Given the description of an element on the screen output the (x, y) to click on. 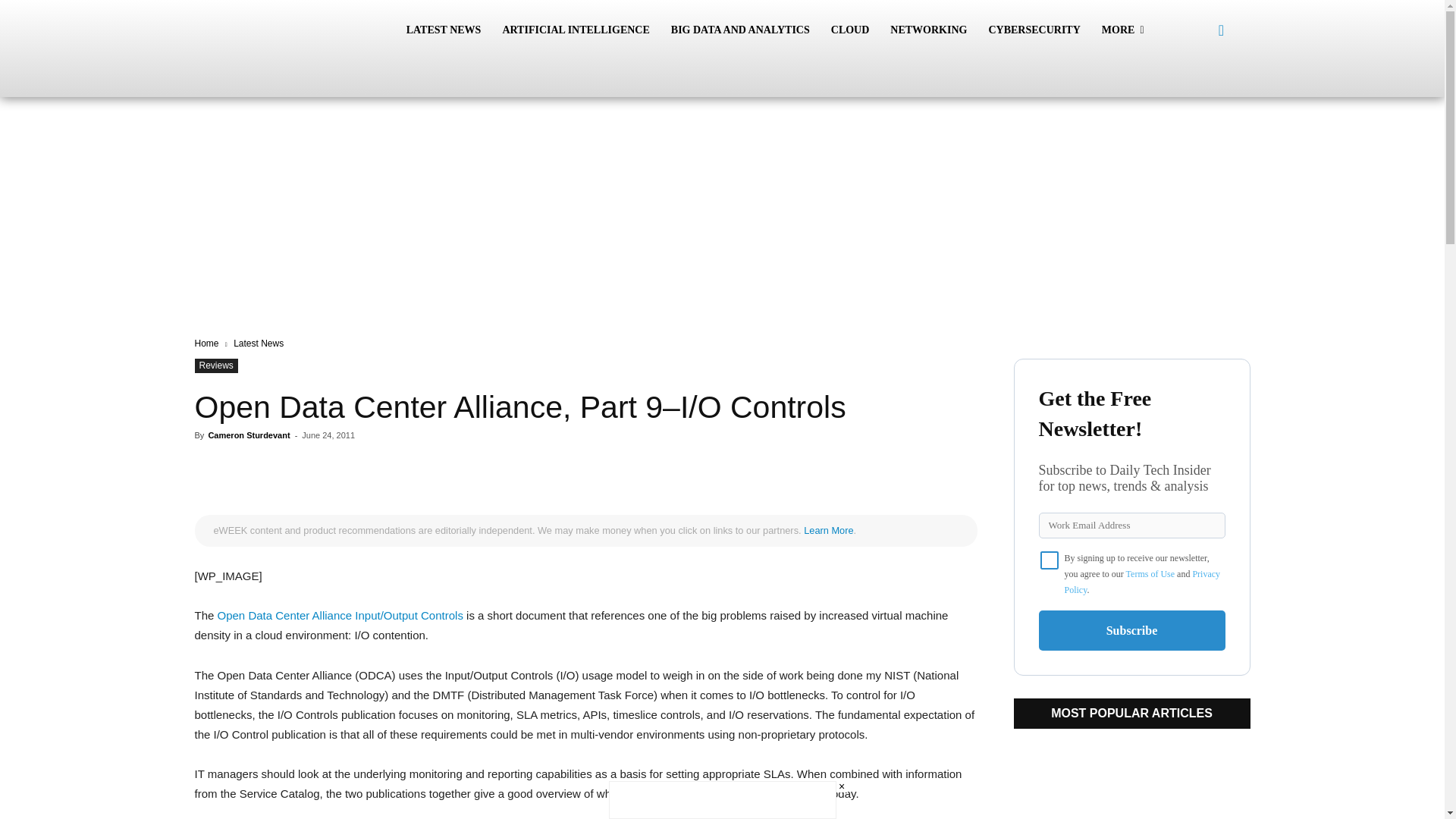
BIG DATA AND ANALYTICS (741, 30)
LATEST NEWS (444, 30)
on (1049, 560)
CYBERSECURITY (1033, 30)
CLOUD (850, 30)
ARTIFICIAL INTELLIGENCE (575, 30)
NETWORKING (927, 30)
